Given the description of an element on the screen output the (x, y) to click on. 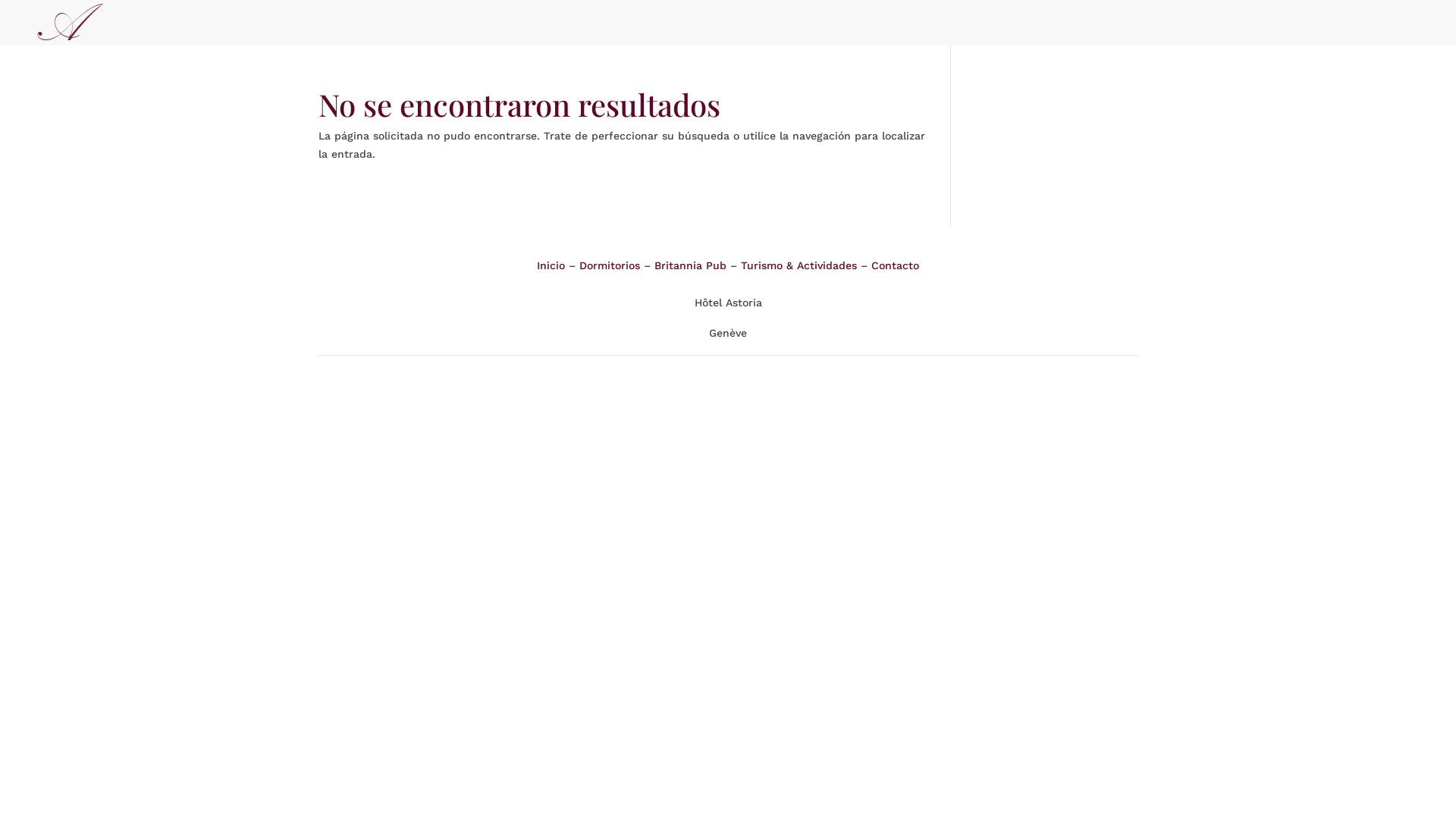
Turismo & Actividades Element type: text (798, 265)
Inicio Element type: text (550, 265)
Contacto Element type: text (895, 265)
Dormitorios Element type: text (609, 265)
Britannia Pub Element type: text (690, 265)
